Given the description of an element on the screen output the (x, y) to click on. 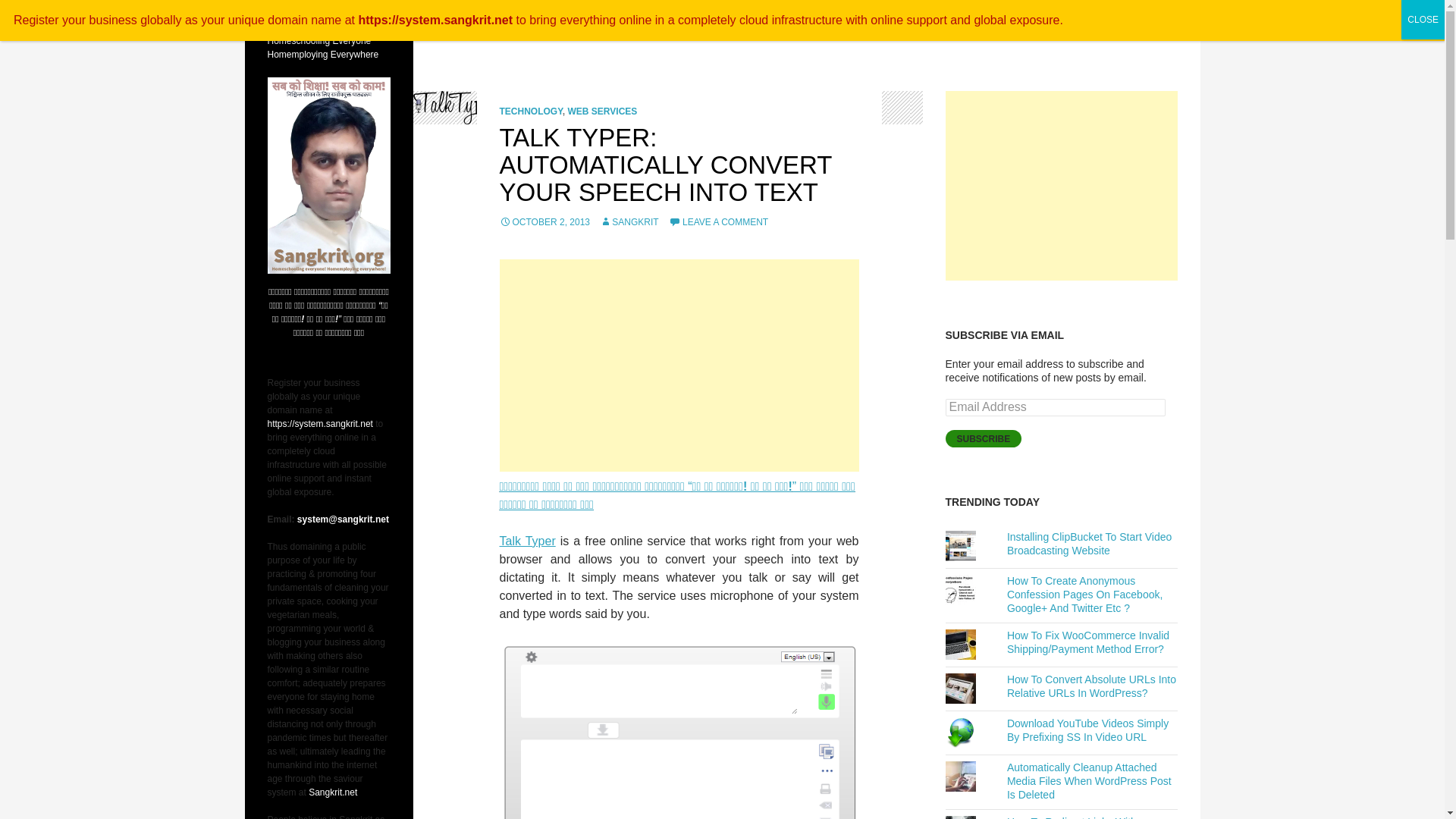
Advertisement (679, 365)
INTERNET INFRASTRUCTURE (1088, 18)
SANGKRIT (628, 222)
WEB SERVICES (602, 111)
Talk Typer (526, 540)
STARTUP INTERFACE (953, 18)
LEAVE A COMMENT (718, 222)
OCTOBER 2, 2013 (544, 222)
TECHNOLOGY (530, 111)
